Given the description of an element on the screen output the (x, y) to click on. 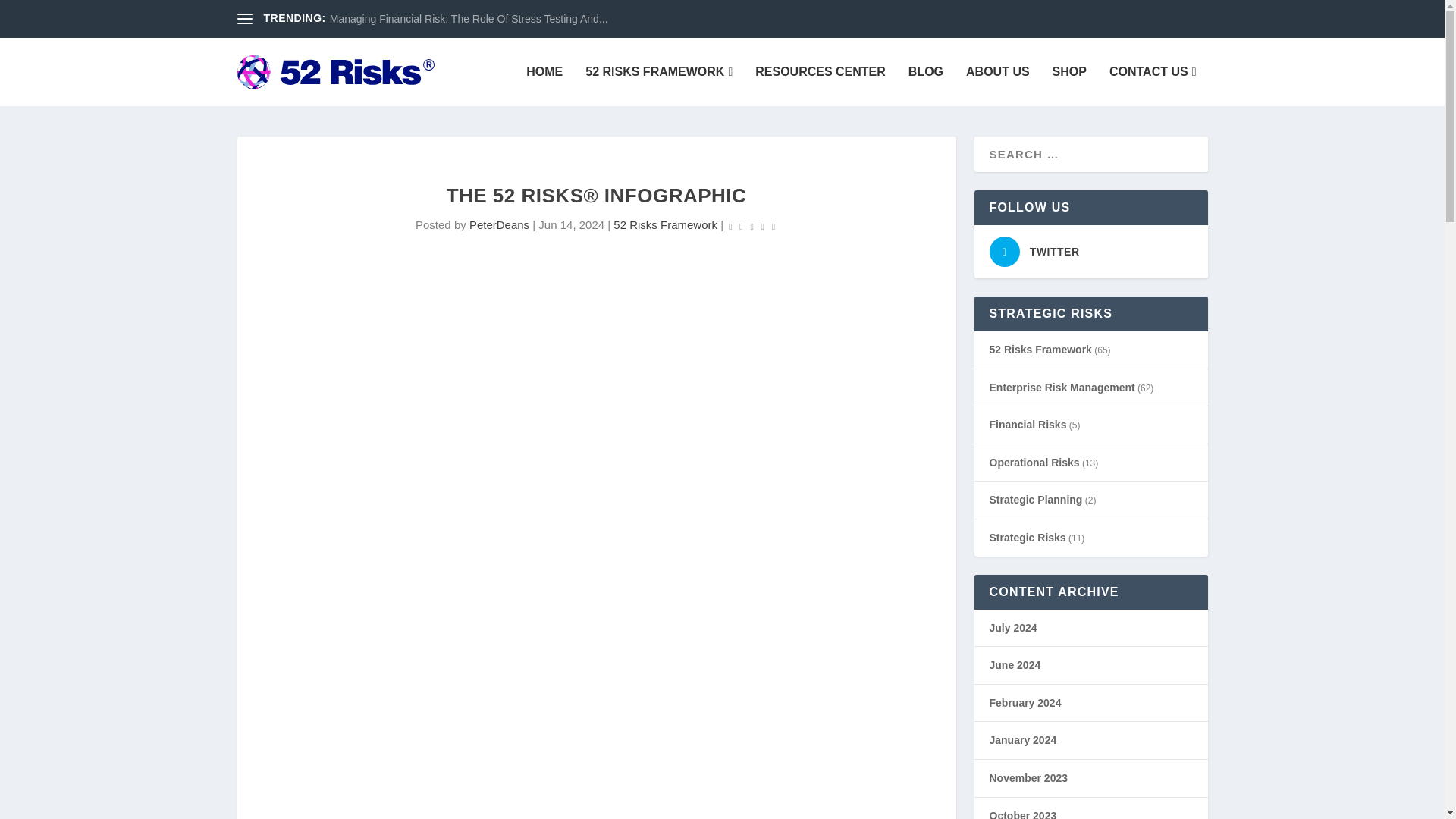
Posts by PeterDeans (498, 224)
Shop in a new tab (1069, 86)
Managing Financial Risk: The Role Of Stress Testing And... (469, 19)
Rating: 0.00 (751, 225)
52 RISKS FRAMEWORK (658, 86)
HOME (543, 86)
